Given the description of an element on the screen output the (x, y) to click on. 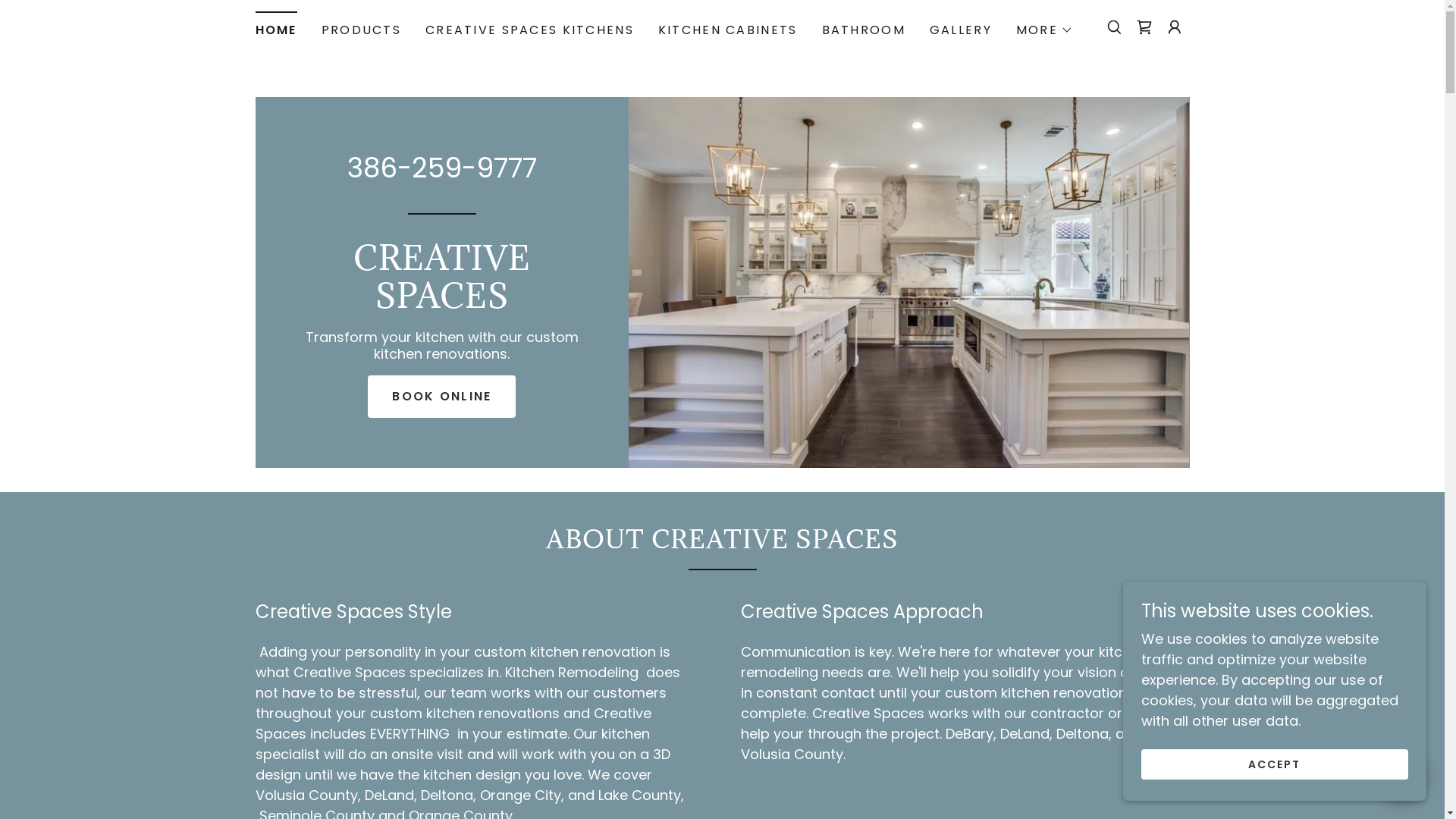
CREATIVE SPACES KITCHENS Element type: text (529, 29)
HOME Element type: text (275, 25)
MORE Element type: text (1044, 30)
PRODUCTS Element type: text (360, 29)
BATHROOM Element type: text (863, 29)
386-259-9777 Element type: text (441, 167)
GALLERY Element type: text (960, 29)
BOOK ONLINE Element type: text (441, 396)
CREATIVE SPACES Element type: text (441, 302)
ACCEPT Element type: text (1274, 764)
KITCHEN CABINETS Element type: text (727, 29)
